Given the description of an element on the screen output the (x, y) to click on. 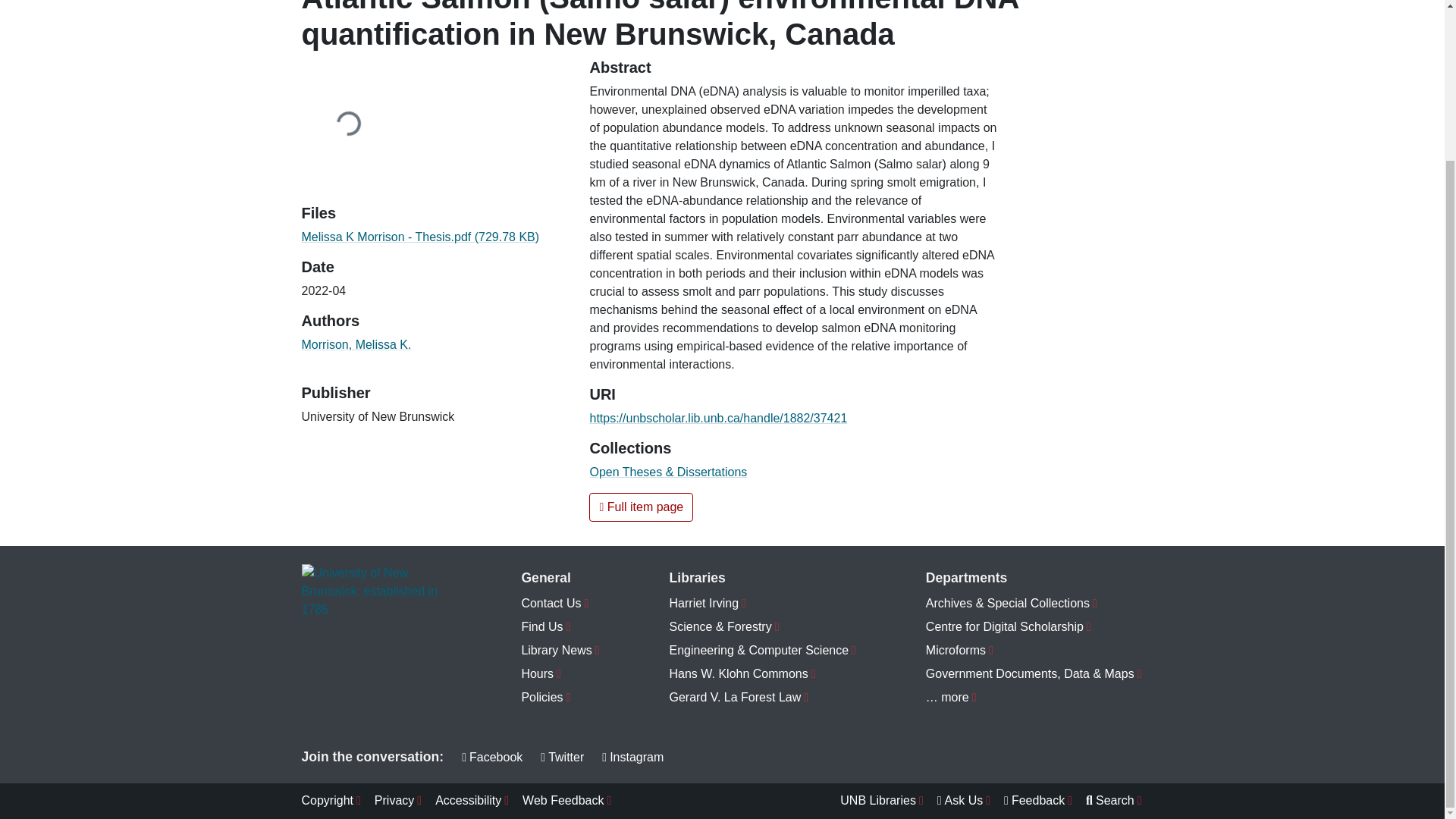
Hours (560, 674)
Library News (560, 650)
Policies (560, 698)
Harriet Irving (763, 603)
Full item page (641, 507)
Twitter (561, 757)
Gerard V. La Forest Law (763, 698)
Find Us (560, 627)
Microforms (1034, 650)
Contact Us (560, 603)
Centre for Digital Scholarship (1034, 627)
Facebook (491, 757)
Hans W. Klohn Commons (763, 674)
Morrison, Melissa K. (356, 343)
